Given the description of an element on the screen output the (x, y) to click on. 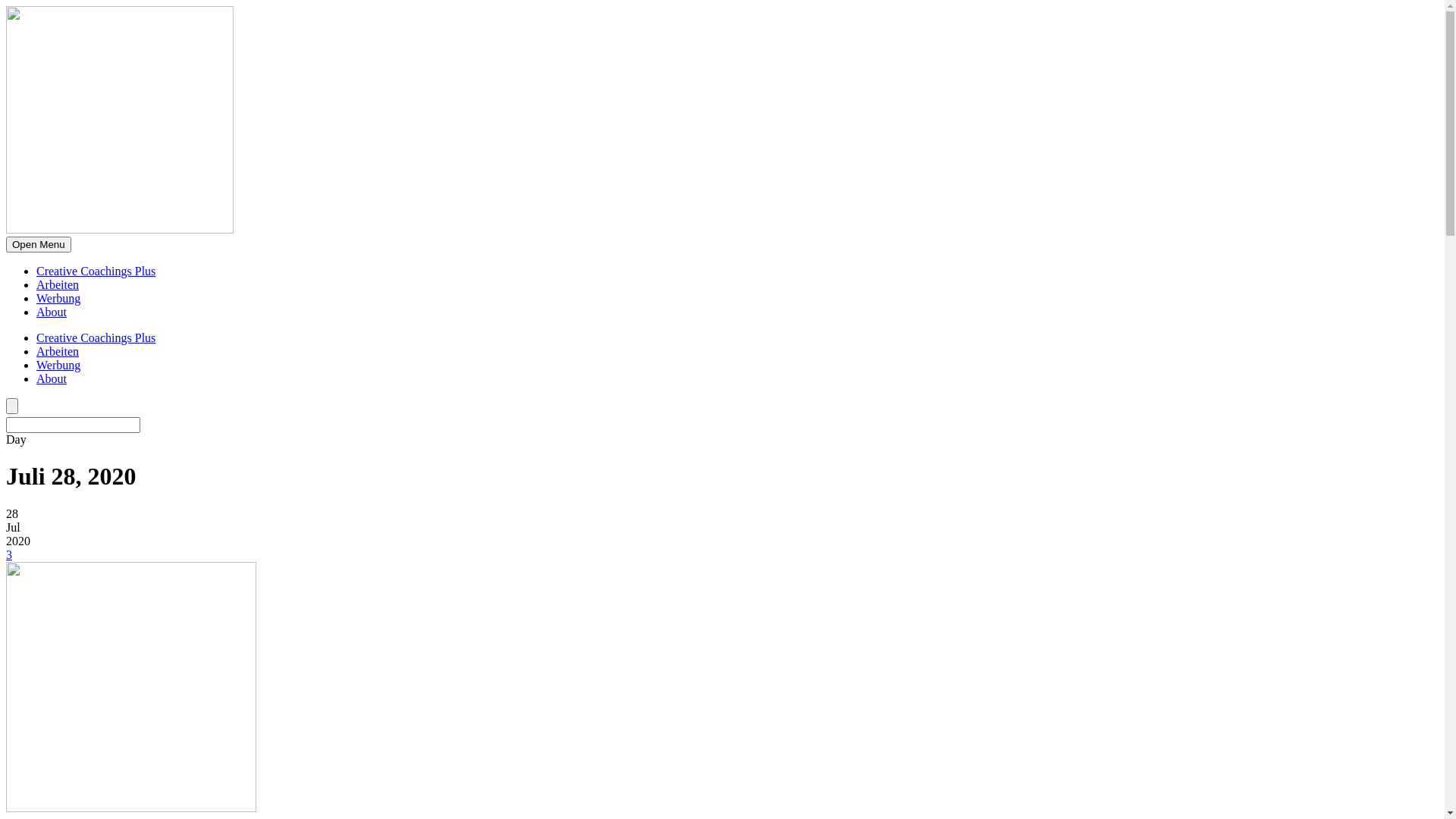
Creative Coachings Plus Element type: text (95, 270)
Arbeiten Element type: text (57, 284)
About Element type: text (51, 311)
Werbung Element type: text (58, 297)
Creative Coachings Plus Element type: text (95, 337)
Open Menu Element type: text (38, 244)
About Element type: text (51, 378)
3 Element type: text (9, 554)
Arbeiten Element type: text (57, 351)
Werbung Element type: text (58, 364)
